Given the description of an element on the screen output the (x, y) to click on. 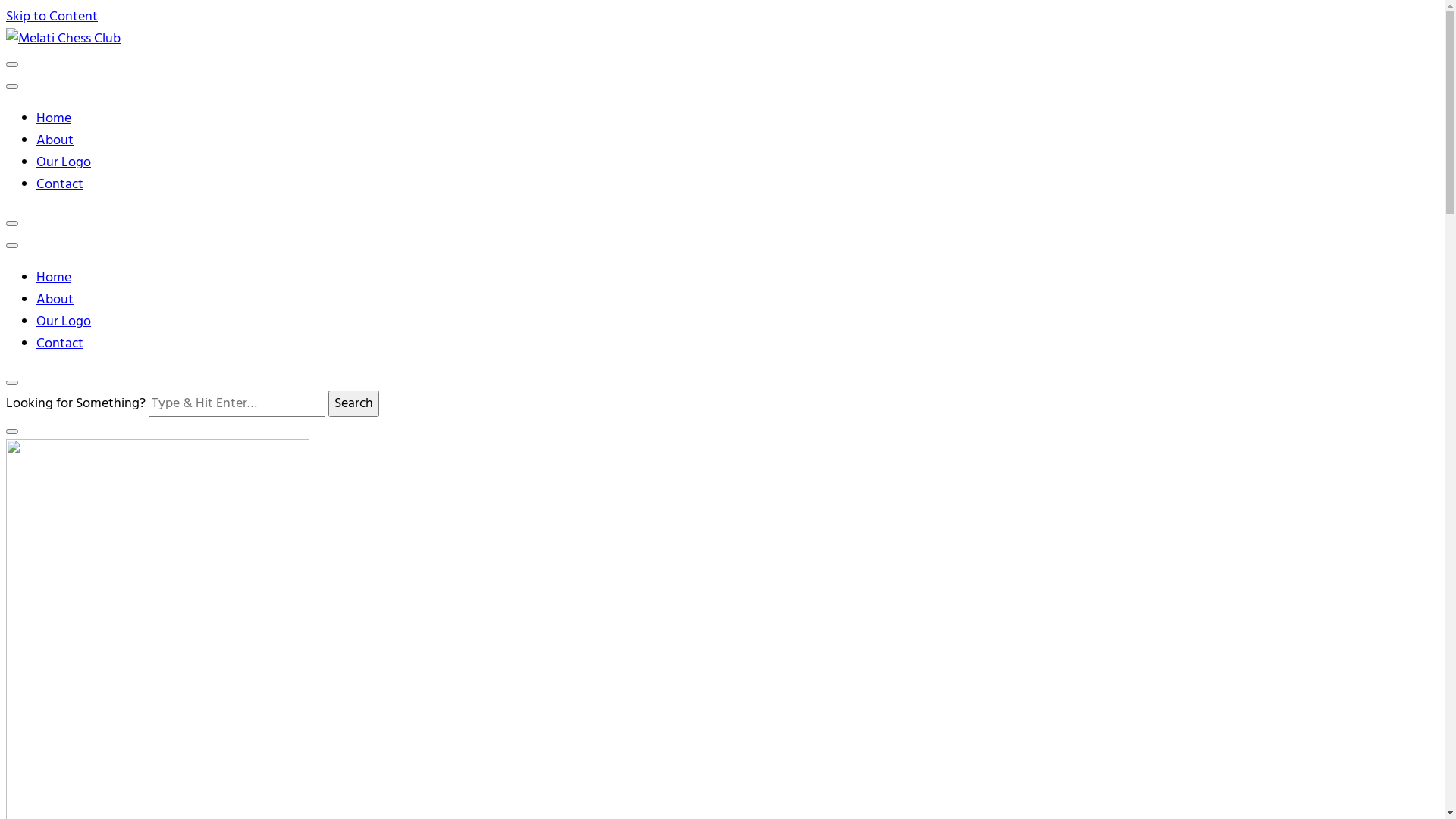
Home Element type: text (53, 118)
Search Element type: text (353, 403)
Home Element type: text (53, 277)
Skip to Content Element type: text (51, 17)
About Element type: text (54, 299)
Contact Element type: text (59, 343)
Melati Chess Club Element type: text (98, 78)
Our Logo Element type: text (63, 321)
Our Logo Element type: text (63, 162)
About Element type: text (54, 140)
Contact Element type: text (59, 184)
